Given the description of an element on the screen output the (x, y) to click on. 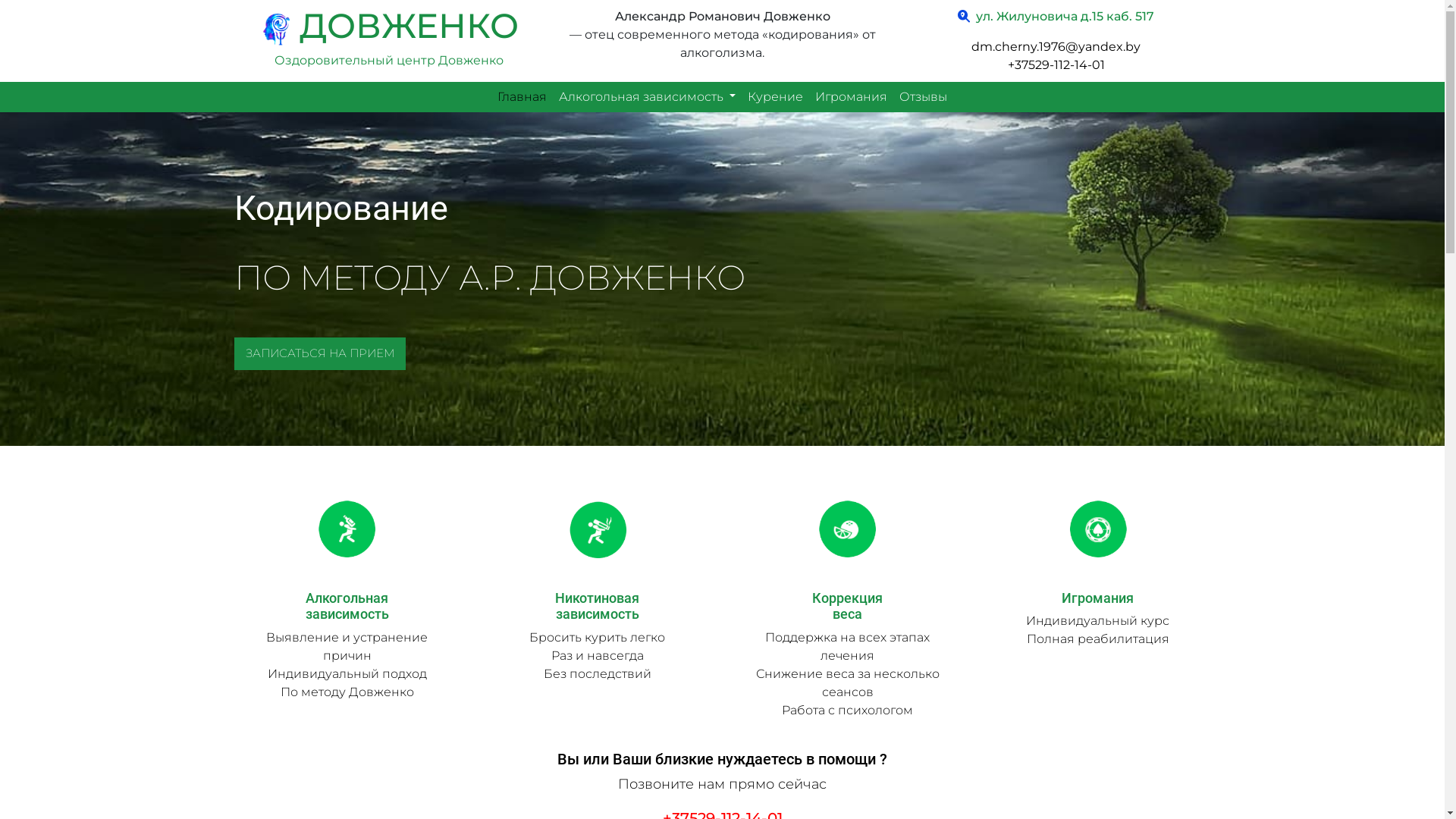
+37529-112-14-01 Element type: text (1055, 64)
dm.cherny.1976@yandex.by Element type: text (1055, 46)
